Given the description of an element on the screen output the (x, y) to click on. 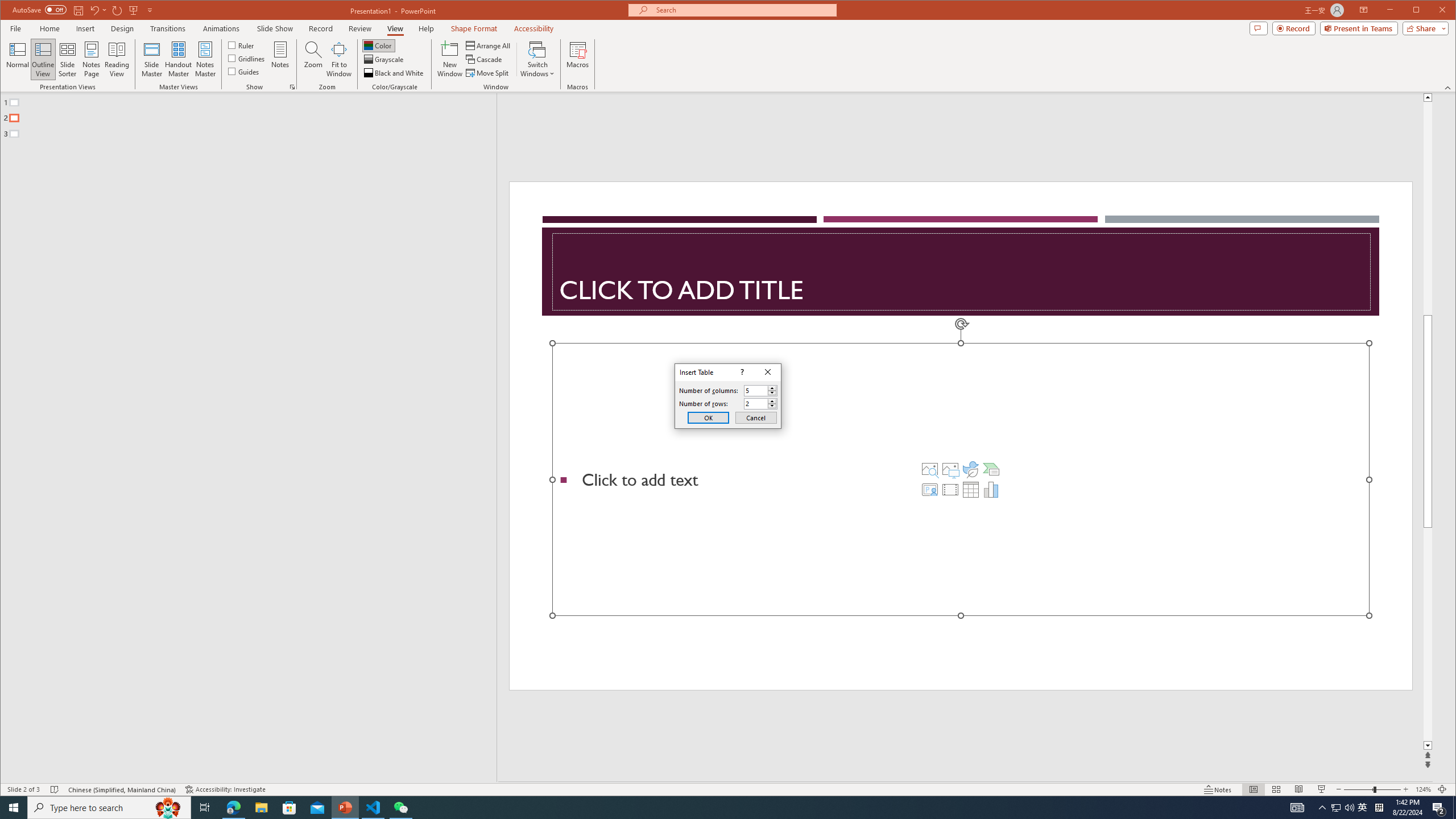
Insert a SmartArt Graphic (991, 469)
Outline (252, 115)
Insert an Icon (970, 469)
Handout Master (178, 59)
More (772, 400)
Notes (279, 59)
Less (772, 405)
Slide Master (151, 59)
